Given the description of an element on the screen output the (x, y) to click on. 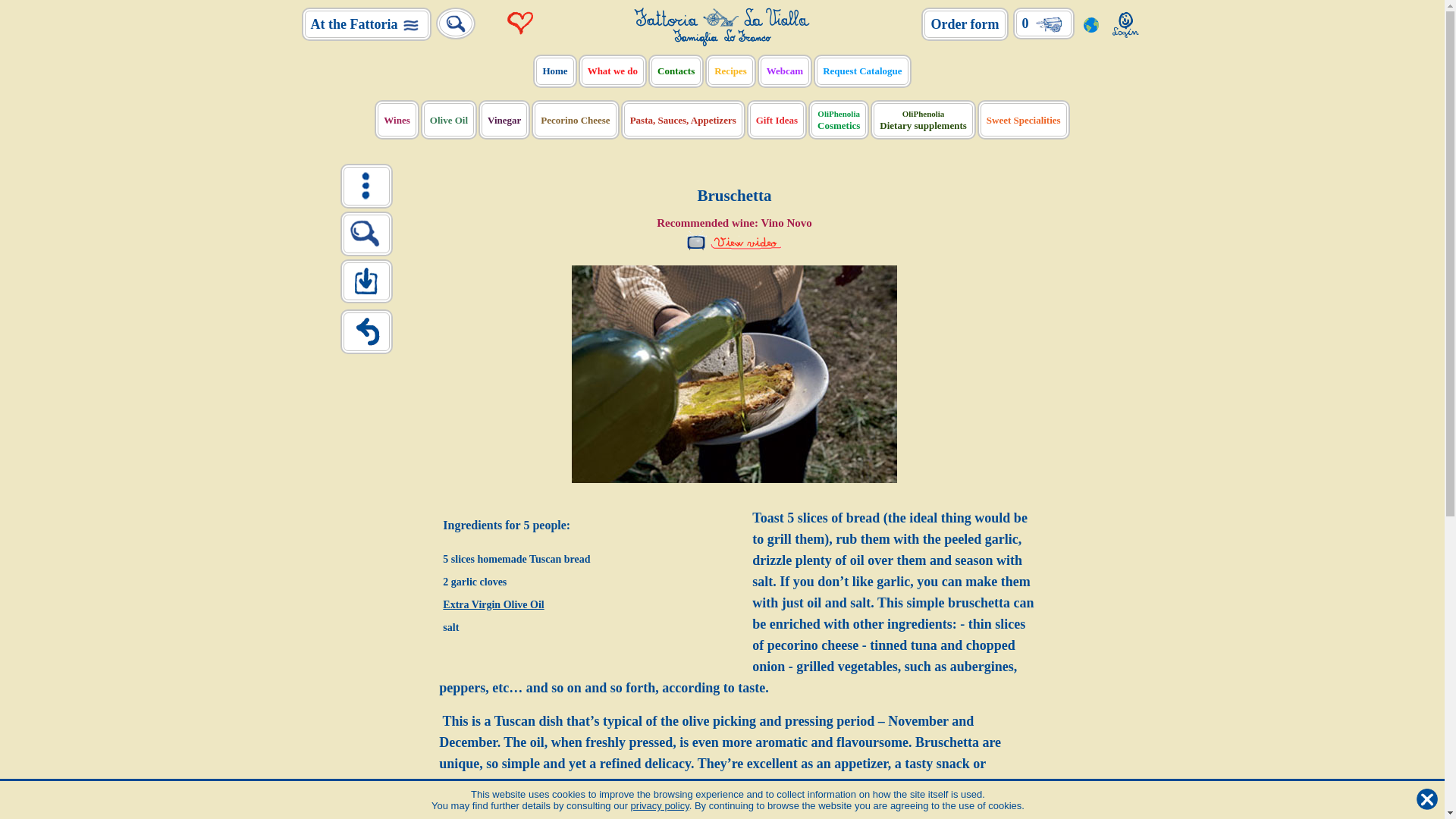
Select Country (1091, 23)
Download (365, 279)
Search (455, 23)
At the Fattoria (366, 23)
0 (1043, 23)
Wishlist (520, 22)
